Given the description of an element on the screen output the (x, y) to click on. 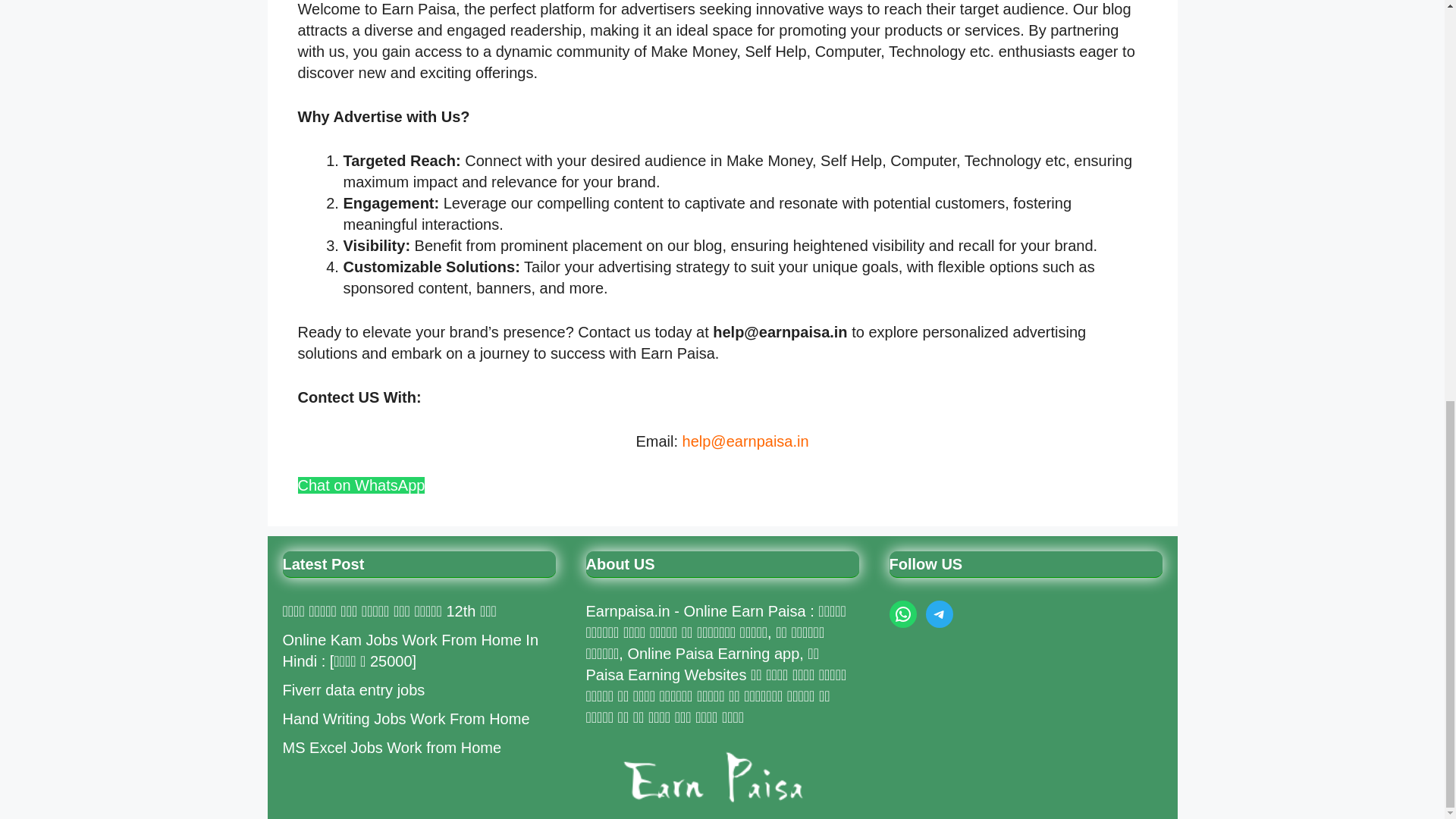
Fiverr data entry jobs (353, 689)
Hand Writing Jobs Work From Home (405, 718)
Telegram (938, 614)
MS Excel Jobs Work from Home (391, 747)
WhatsApp (901, 614)
Chat on WhatsApp (361, 484)
